Given the description of an element on the screen output the (x, y) to click on. 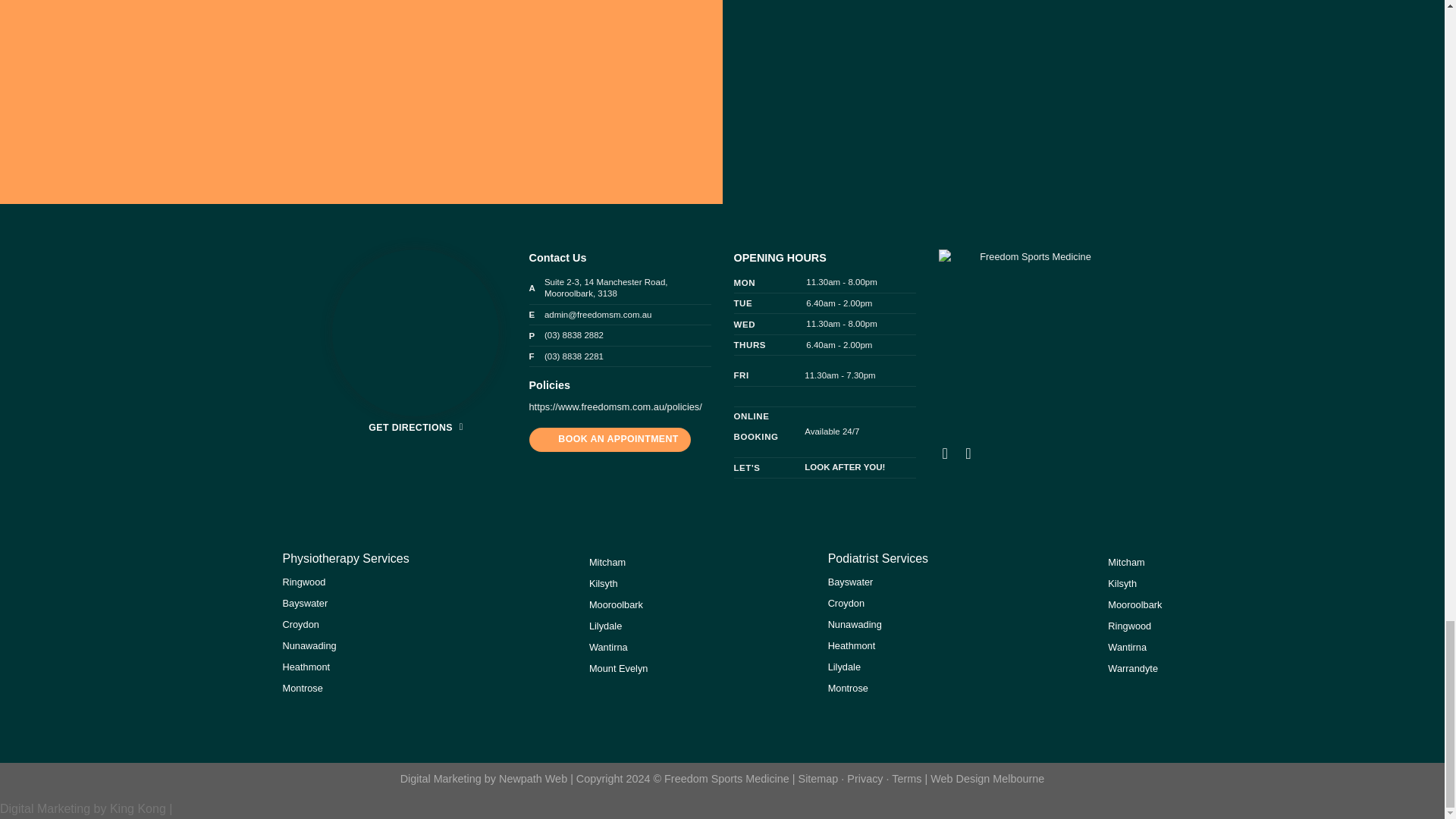
Heathmont (306, 666)
Nunawading (309, 645)
Mooroolbark (616, 604)
Wantirna (608, 646)
Mitcham (607, 562)
Lilydale (605, 625)
Croydon (300, 624)
Kilsyth (603, 583)
Ringwood (303, 582)
Follow on Instagram (972, 453)
